Given the description of an element on the screen output the (x, y) to click on. 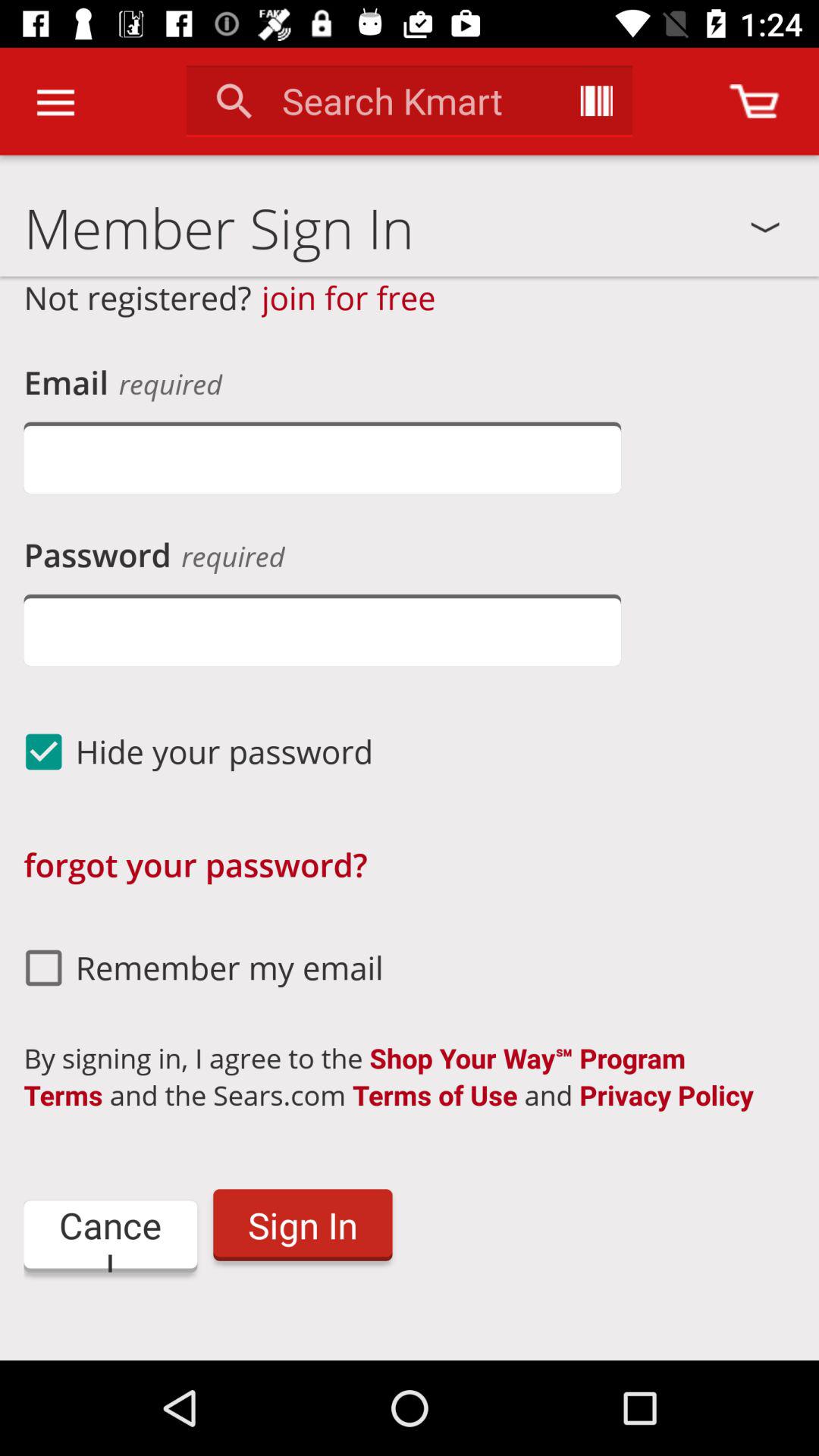
search for item (596, 100)
